Given the description of an element on the screen output the (x, y) to click on. 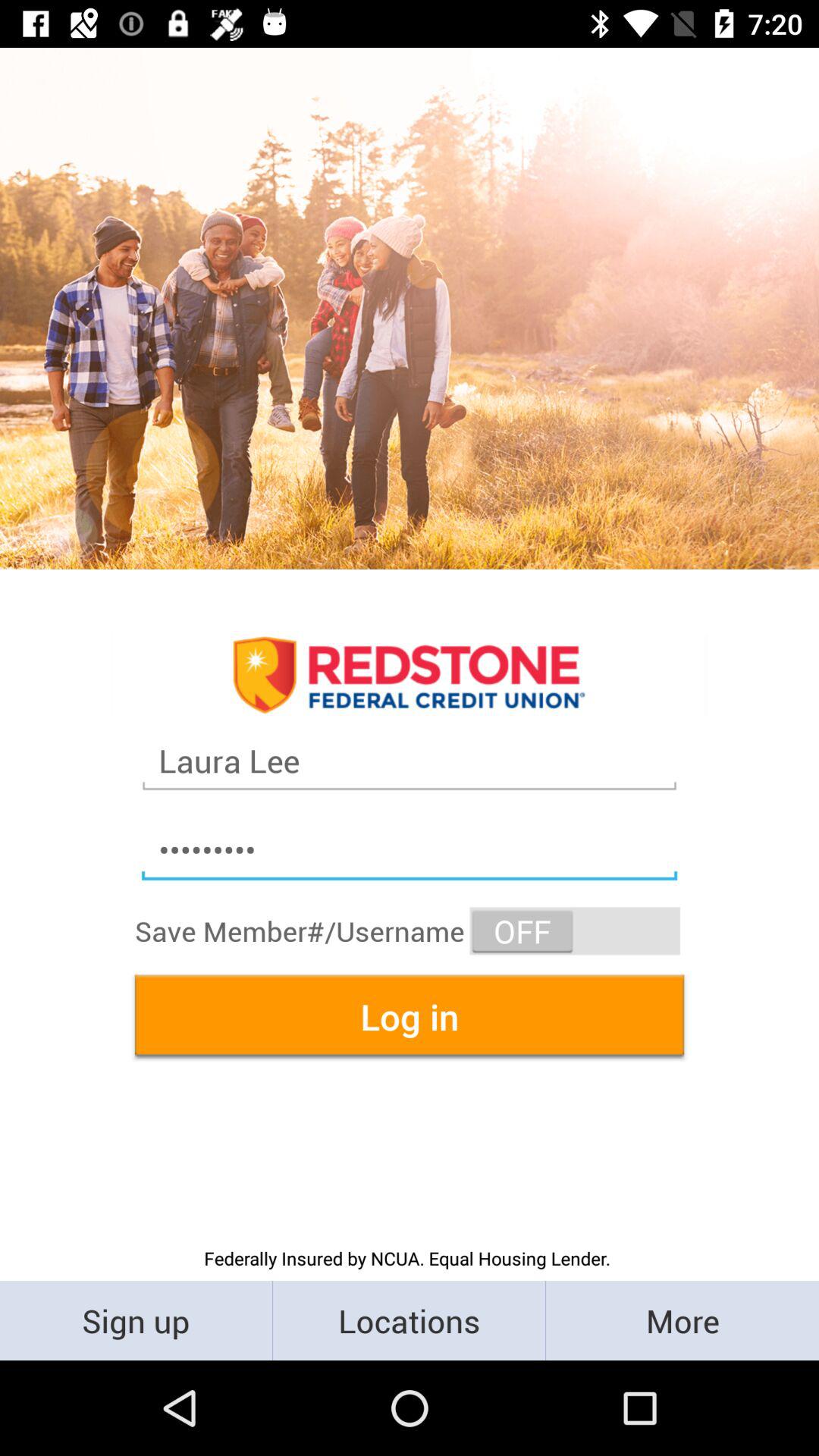
select icon below the federally insured by item (136, 1320)
